Given the description of an element on the screen output the (x, y) to click on. 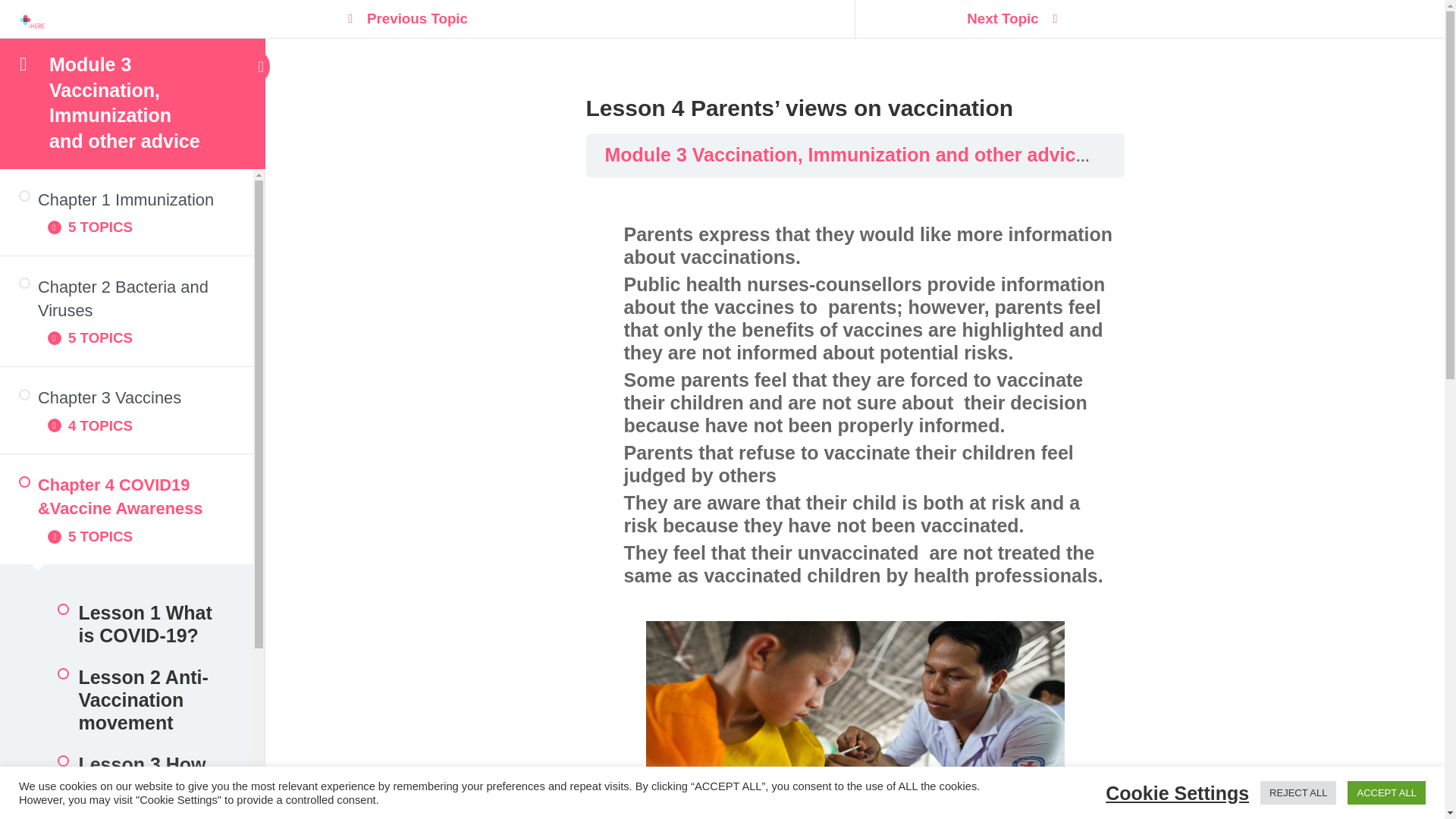
Next Topic (1005, 21)
Lesson 2 Anti-Vaccination movement (126, 699)
Lesson 3 How media affect vaccination (126, 780)
Module 3 Vaccination, Immunization and other advice (124, 102)
Chapter 1 Immunization (126, 199)
Chapter 3 Vaccines (126, 397)
Lesson 1 What is COVID-19? (126, 623)
Cookie Settings (1177, 792)
Chapter 2 Bacteria and Viruses (126, 298)
Module 3 Vaccination, Immunization and other advice (847, 154)
